Given the description of an element on the screen output the (x, y) to click on. 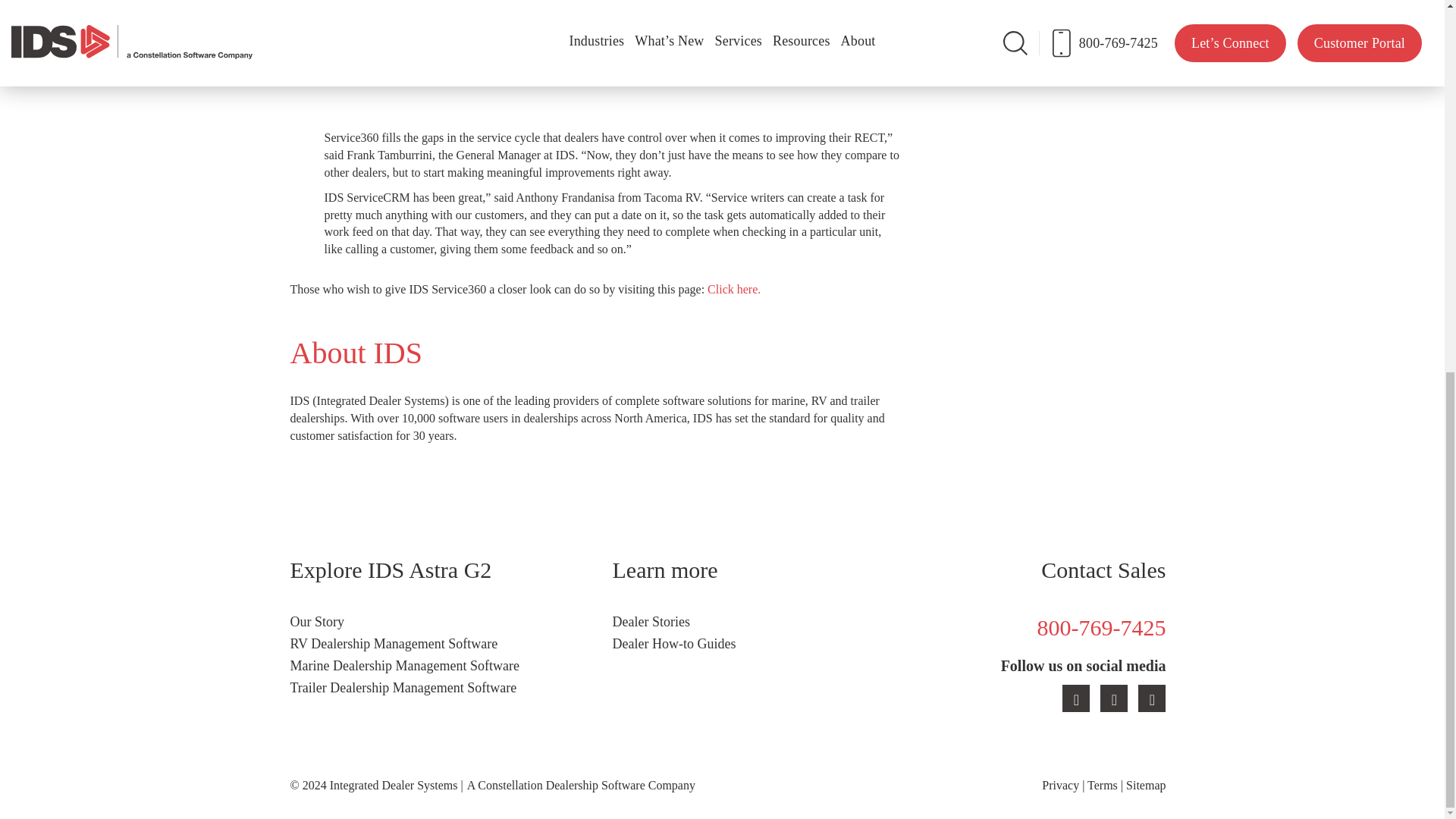
Facebook (1148, 700)
Click here. (733, 288)
Linkedin (1071, 700)
YouTube (1109, 700)
